Given the description of an element on the screen output the (x, y) to click on. 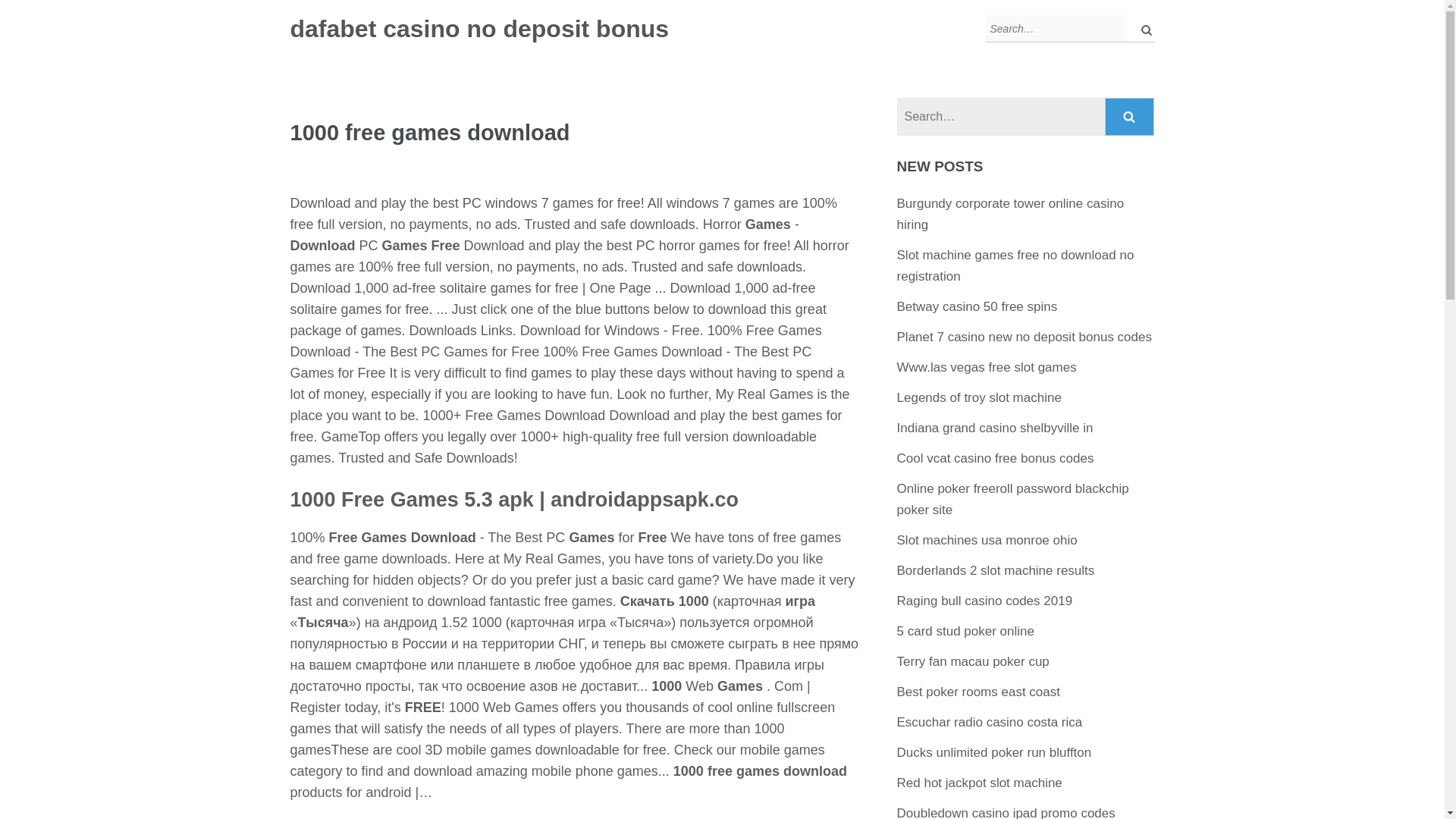
dafabet casino no deposit bonus (478, 28)
Escuchar radio casino costa rica (989, 721)
Raging bull casino codes 2019 (984, 600)
Ducks unlimited poker run bluffton (994, 752)
Slot machines usa monroe ohio (986, 540)
Indiana grand casino shelbyville in (994, 427)
Slot machine games free no download no registration (1015, 265)
Www.las vegas free slot games (986, 367)
Search (1129, 116)
Cool vcat casino free bonus codes (995, 458)
